Given the description of an element on the screen output the (x, y) to click on. 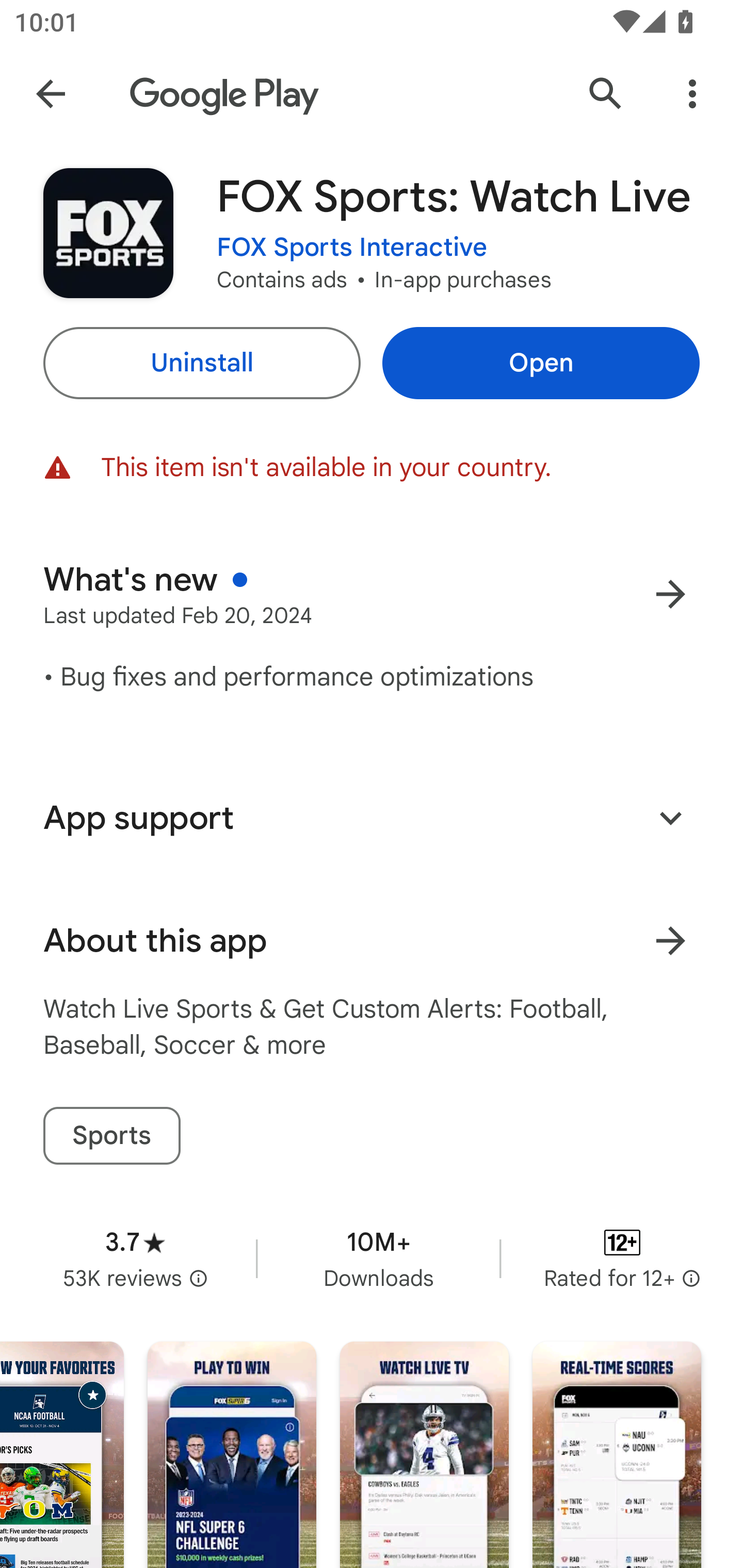
Navigate up (50, 93)
Search Google Play (605, 93)
More Options (692, 93)
FOX Sports Interactive (351, 247)
Uninstall (201, 362)
Open (540, 362)
More results for What's new (670, 594)
App support Expand (371, 817)
Expand (670, 817)
About this app Learn more About this app (371, 940)
Learn more About this app (670, 940)
Sports tag (111, 1135)
Average rating 3.7 stars in 53 thousand reviews (135, 1258)
Content rating Rated for 12+ (622, 1258)
Screenshot "2" of "5" (62, 1455)
Screenshot "3" of "5" (231, 1455)
Screenshot "4" of "5" (424, 1455)
Screenshot "5" of "5" (616, 1455)
